Given the description of an element on the screen output the (x, y) to click on. 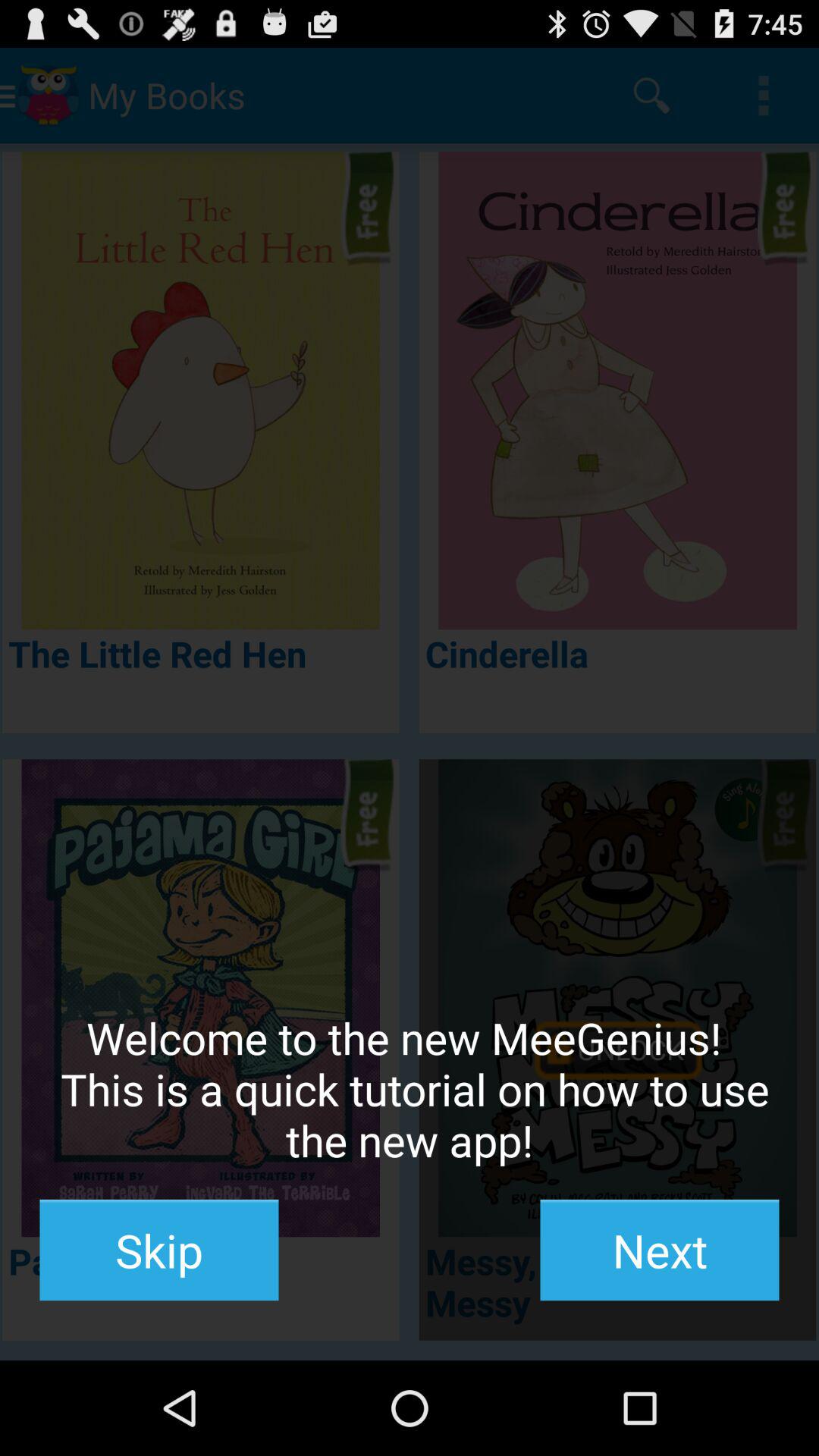
launch the item to the left of the next icon (158, 1249)
